Given the description of an element on the screen output the (x, y) to click on. 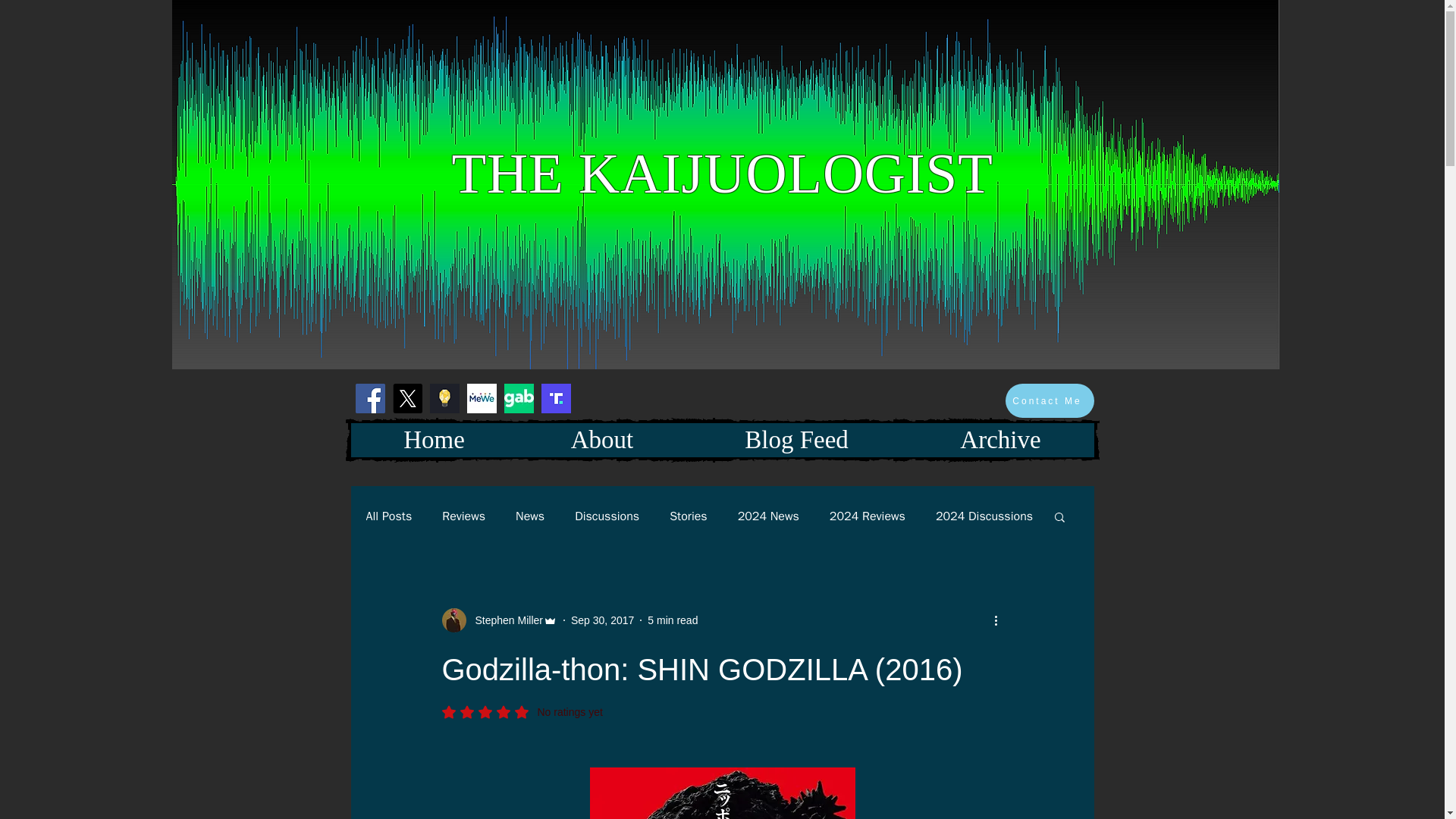
THE KAIJUOLOGIST (721, 172)
2024 News (768, 515)
5 min read (672, 620)
Discussions (607, 515)
Reviews (463, 515)
2024 Reviews (867, 515)
Contact Me (1050, 400)
All Posts (388, 515)
Stories (688, 515)
News (529, 515)
2024 Discussions (984, 515)
Stephen Miller (504, 620)
Sep 30, 2017 (601, 620)
